Given the description of an element on the screen output the (x, y) to click on. 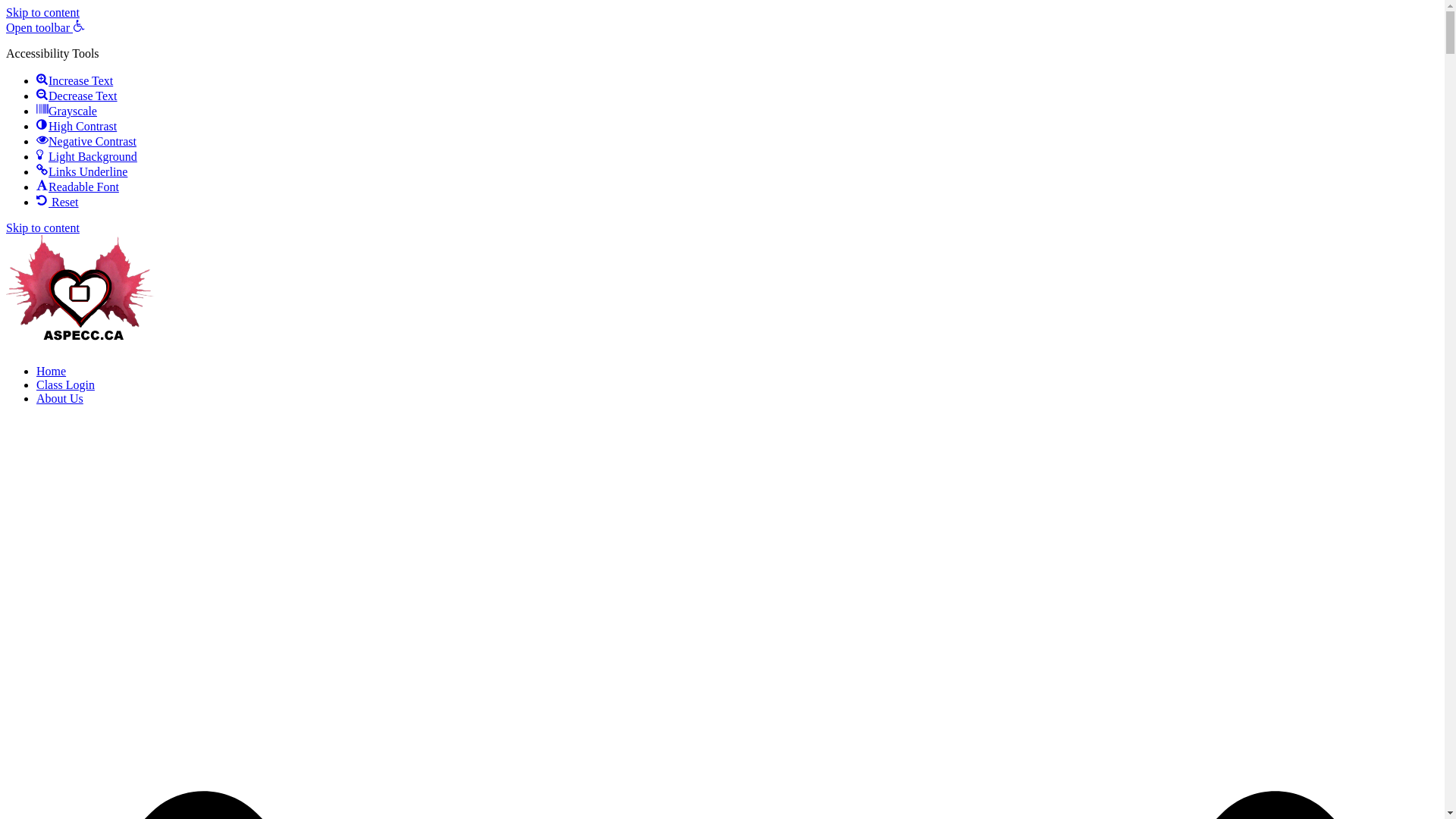
About Us Element type: text (59, 398)
Negative ContrastNegative Contrast Element type: text (86, 140)
Increase TextIncrease Text Element type: text (74, 80)
Links UnderlineLinks Underline Element type: text (81, 171)
Class Login Element type: text (65, 384)
Reset Reset Element type: text (57, 201)
Skip to content Element type: text (42, 12)
Home Element type: text (50, 370)
Open toolbar Accessibility Tools Element type: text (45, 27)
Skip to content Element type: text (42, 227)
Decrease TextDecrease Text Element type: text (76, 95)
Readable FontReadable Font Element type: text (77, 186)
High ContrastHigh Contrast Element type: text (76, 125)
Light BackgroundLight Background Element type: text (86, 156)
GrayscaleGrayscale Element type: text (66, 110)
